Given the description of an element on the screen output the (x, y) to click on. 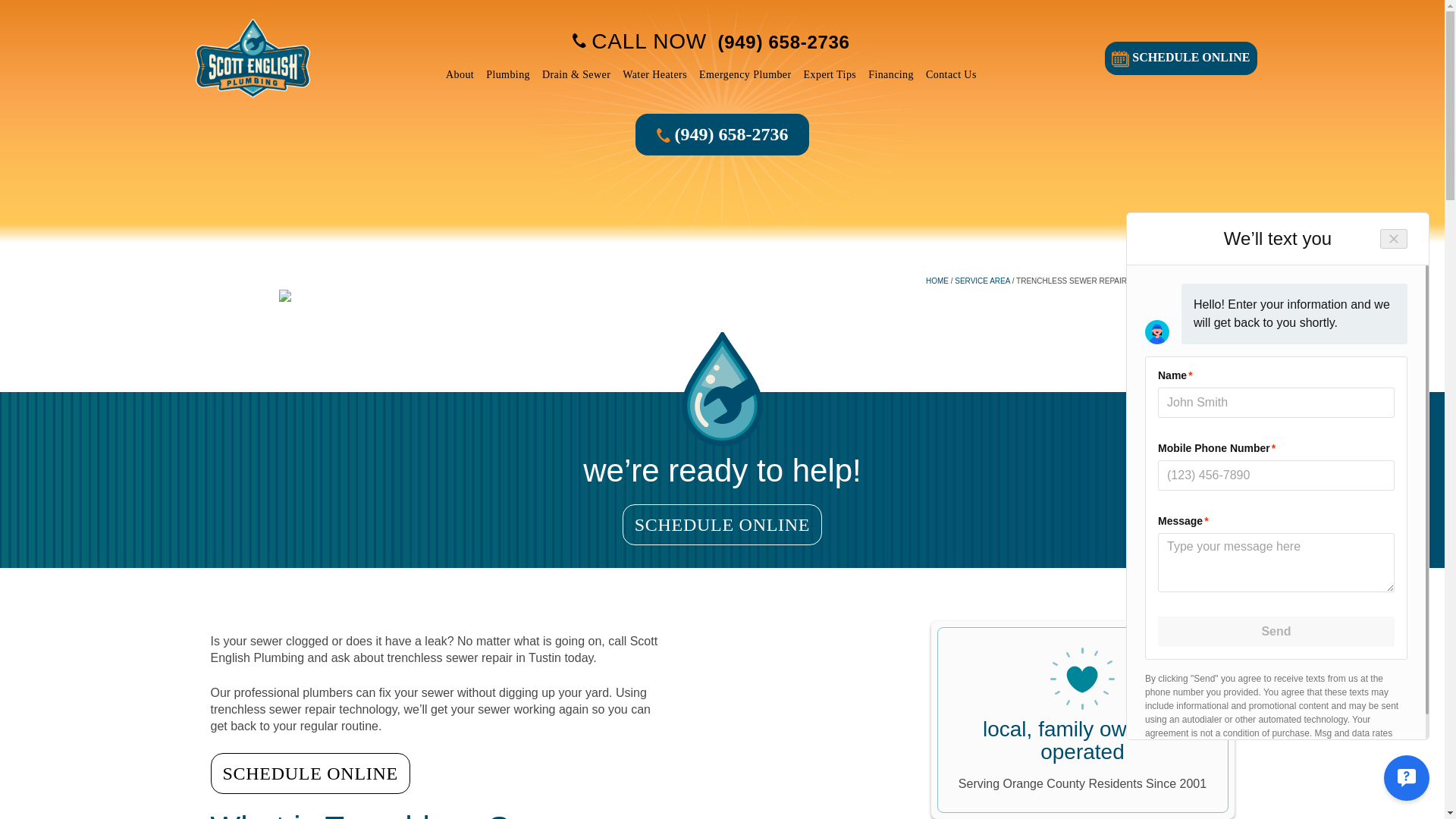
Plumbing (507, 74)
Water Heaters (654, 74)
About (459, 74)
Emergency Plumber (745, 74)
